Given the description of an element on the screen output the (x, y) to click on. 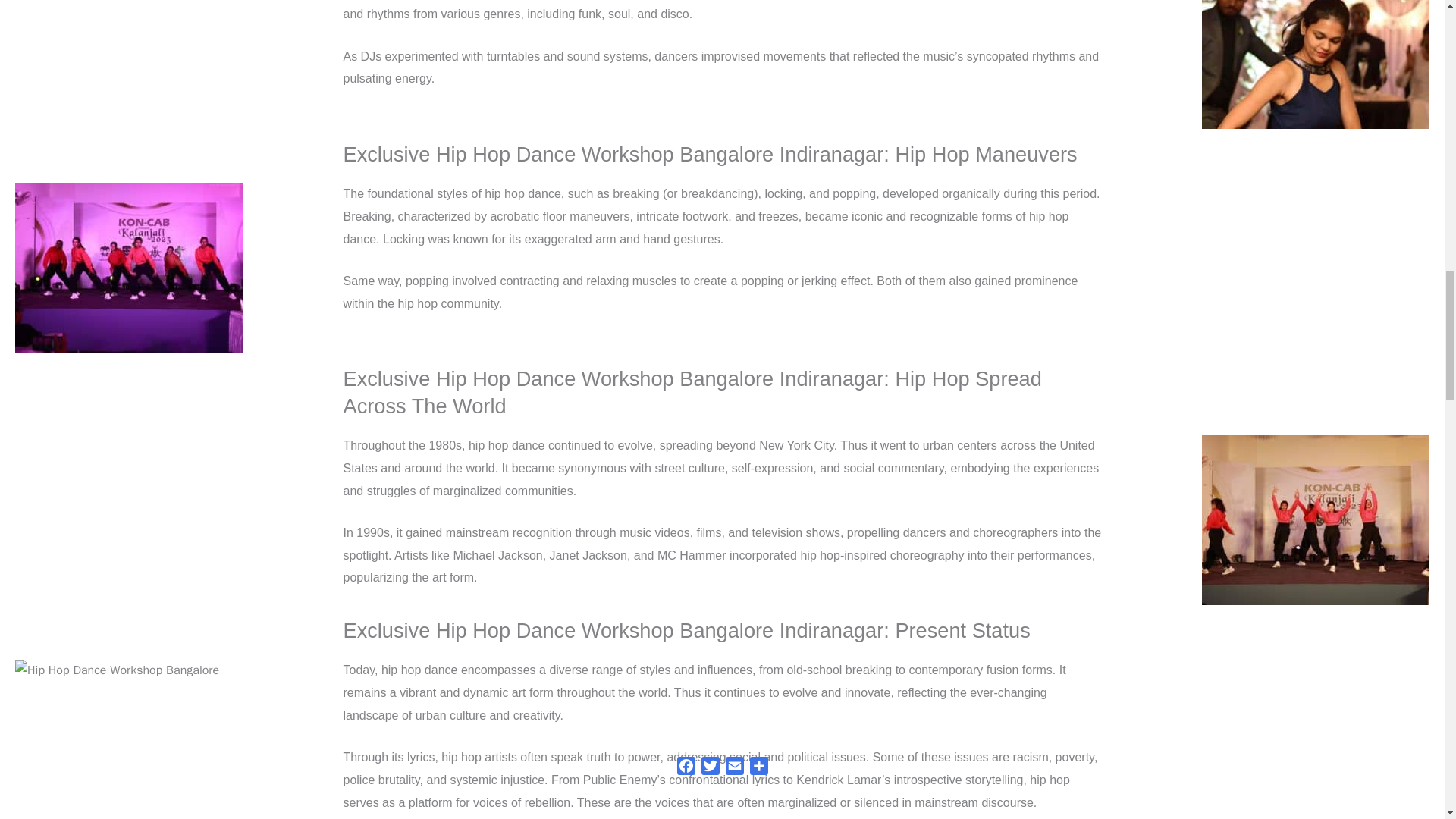
Exclusive Hip Hop Dance Workshop Bangalore Indiranagar (128, 267)
Exclusive Hip Hop Dance Workshop Bangalore Indiranagar (1315, 519)
Exclusive Hip Hop Dance Workshop Bangalore Indiranagar (1315, 64)
Exclusive Hip Hop Dance Workshop Bangalore Indiranagar (116, 671)
